Given the description of an element on the screen output the (x, y) to click on. 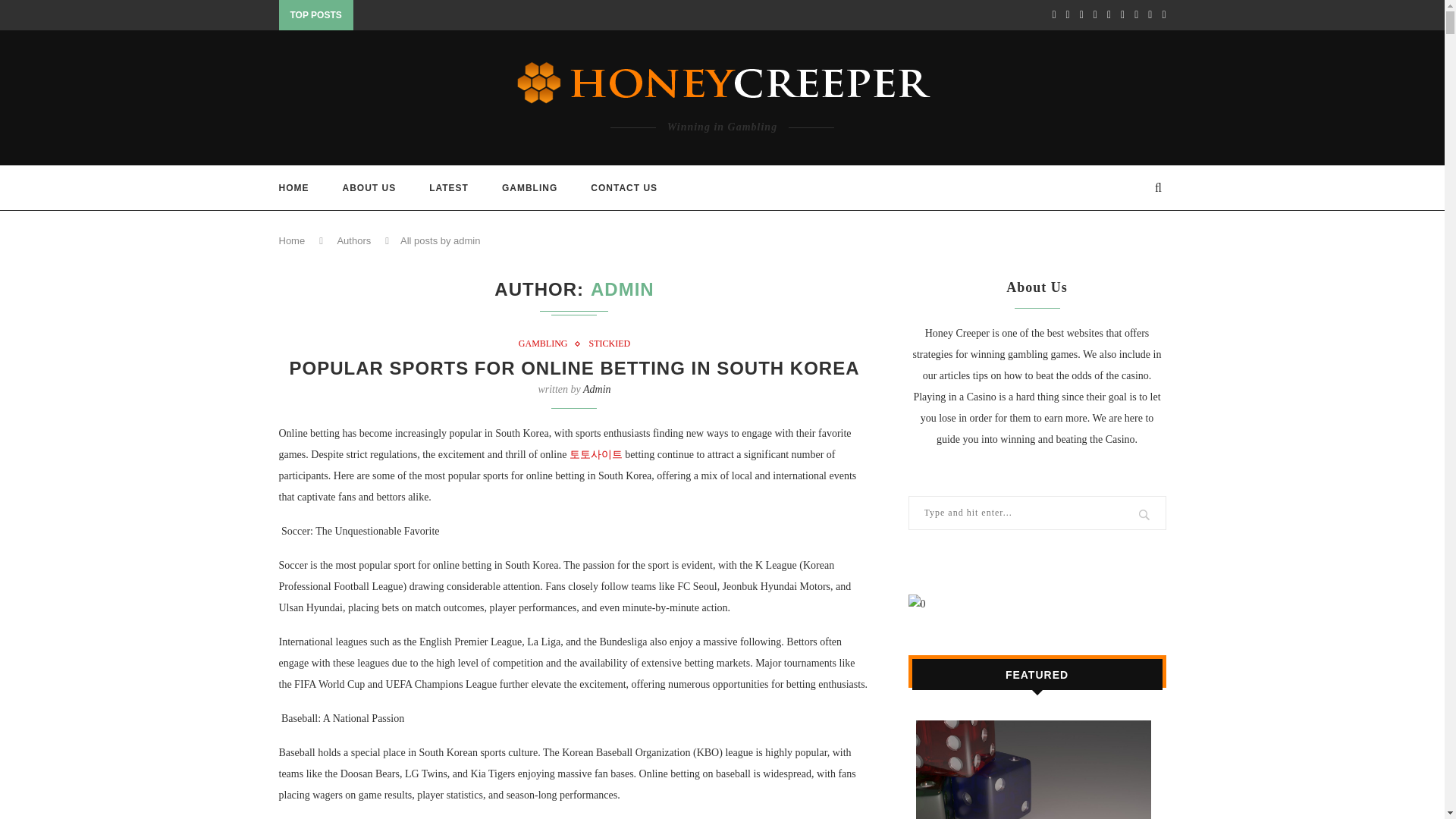
View all posts in Gambling (546, 343)
CONTACT US (624, 187)
Home (292, 240)
ABOUT US (369, 187)
GAMBLING (546, 343)
GAMBLING (529, 187)
LATEST (448, 187)
POPULAR SPORTS FOR ONLINE BETTING IN SOUTH KOREA (573, 367)
Admin (597, 389)
View all posts in stickied (609, 343)
